Given the description of an element on the screen output the (x, y) to click on. 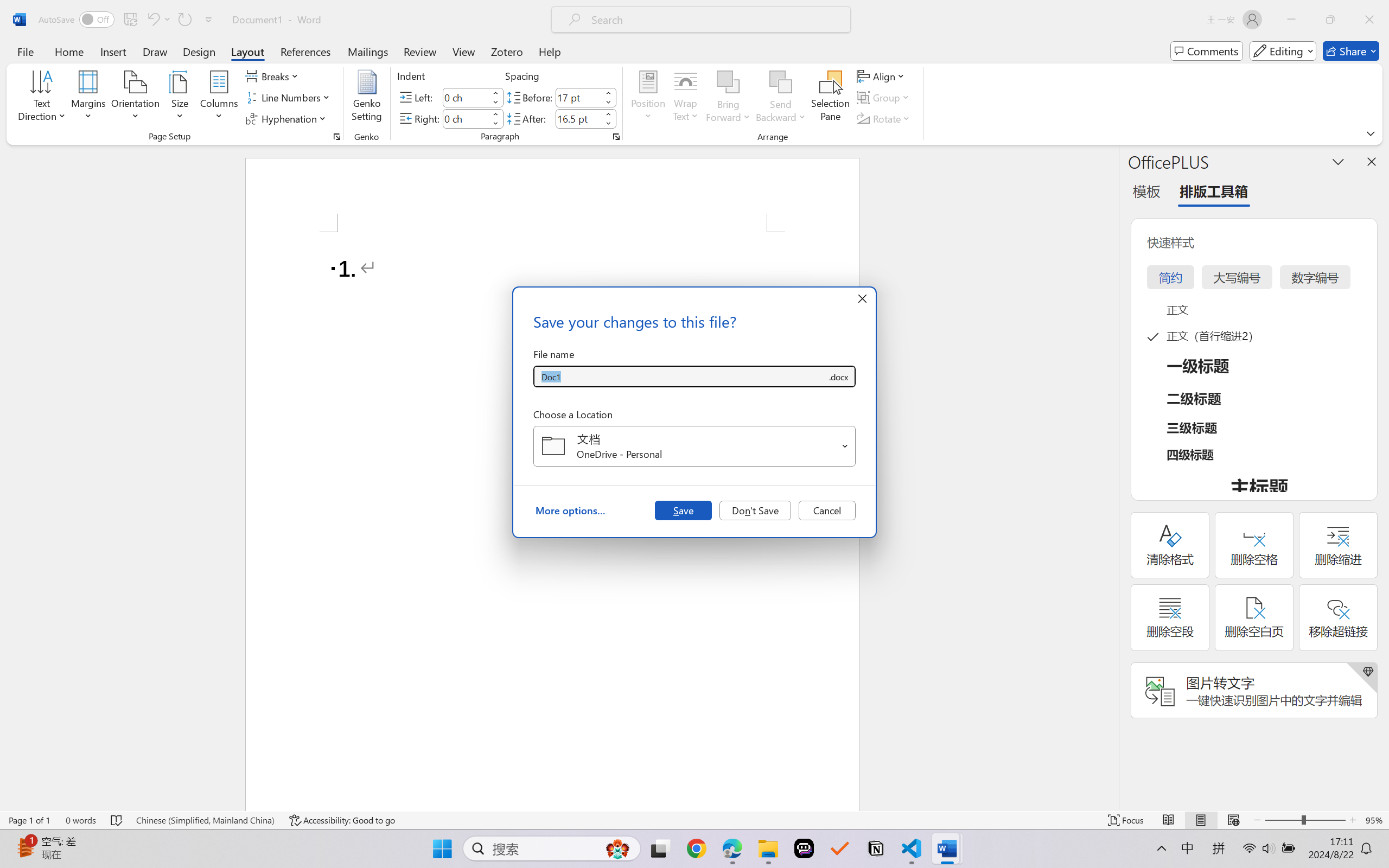
Position (647, 97)
Don't Save (755, 509)
Hyphenation (287, 118)
Line Numbers (289, 97)
Choose a Location (694, 446)
